Given the description of an element on the screen output the (x, y) to click on. 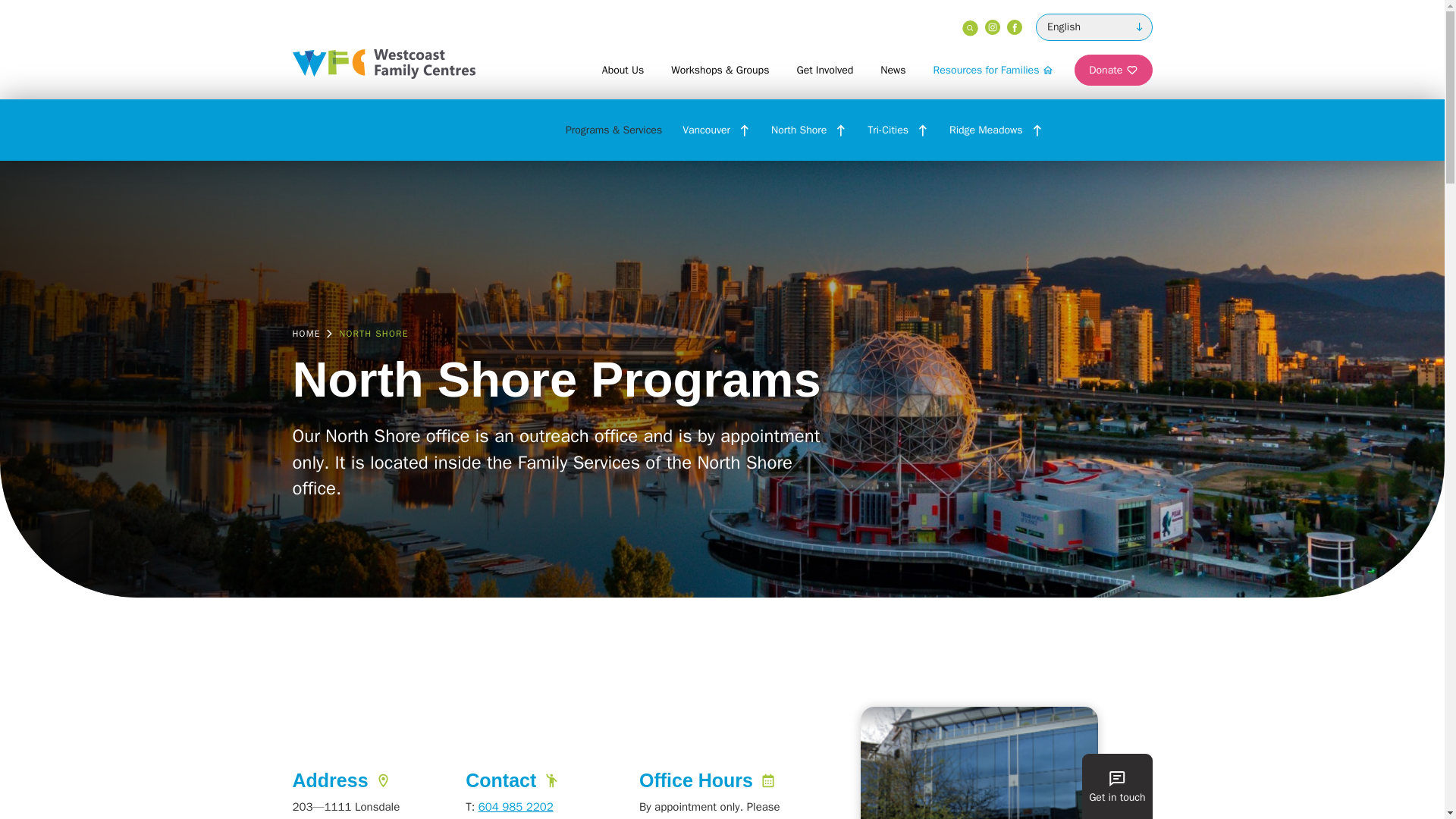
Resources for Families (993, 70)
Vancouver (706, 129)
Tri-Cities (887, 129)
About Us (623, 69)
Instagram (992, 27)
Donate (1112, 69)
North Shore (799, 129)
West Coast Families (384, 62)
News (892, 69)
Ridge Meadows (985, 129)
Get Involved (824, 69)
Facebook (1014, 27)
